Given the description of an element on the screen output the (x, y) to click on. 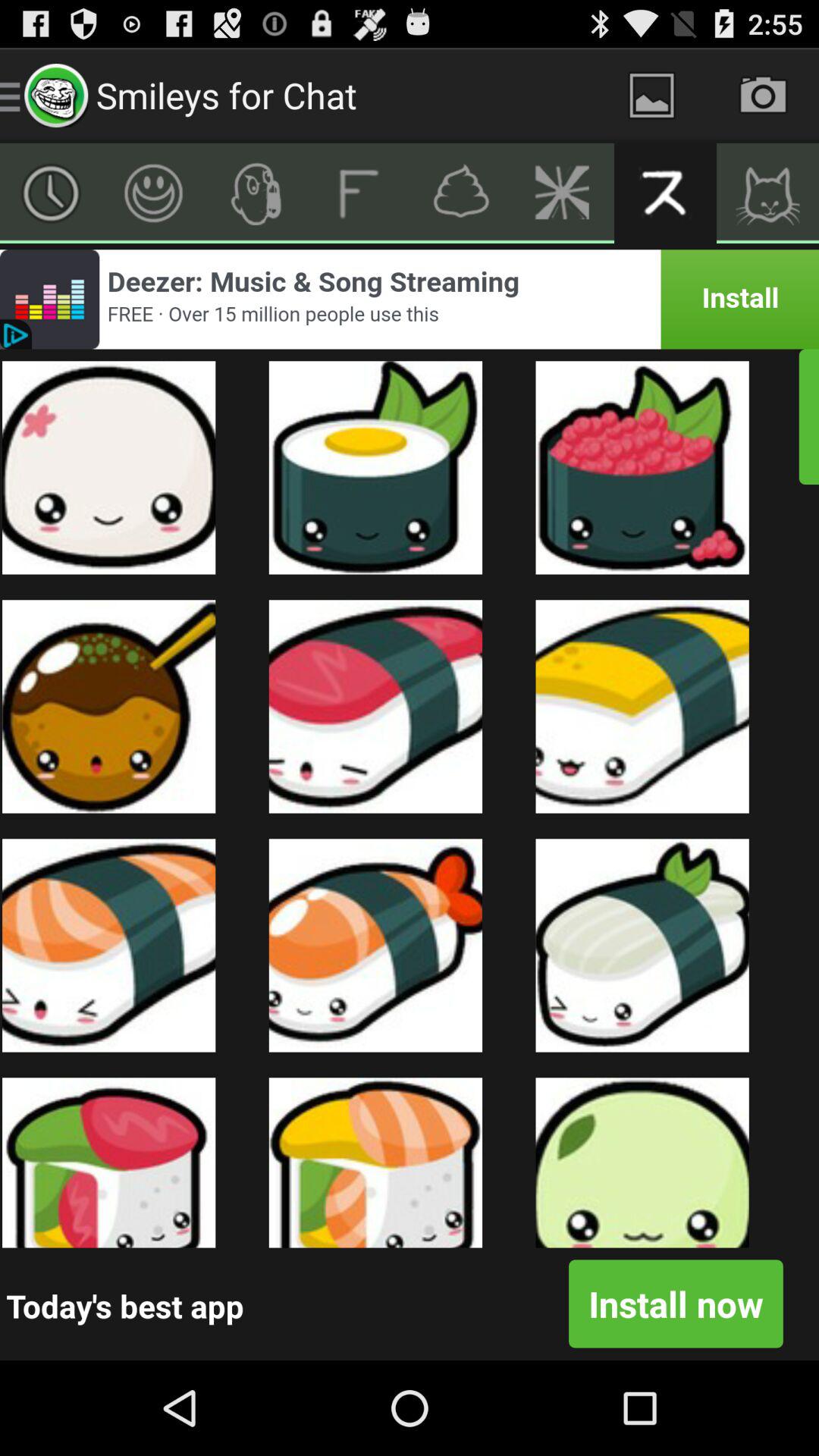
view more objects (51, 193)
